Given the description of an element on the screen output the (x, y) to click on. 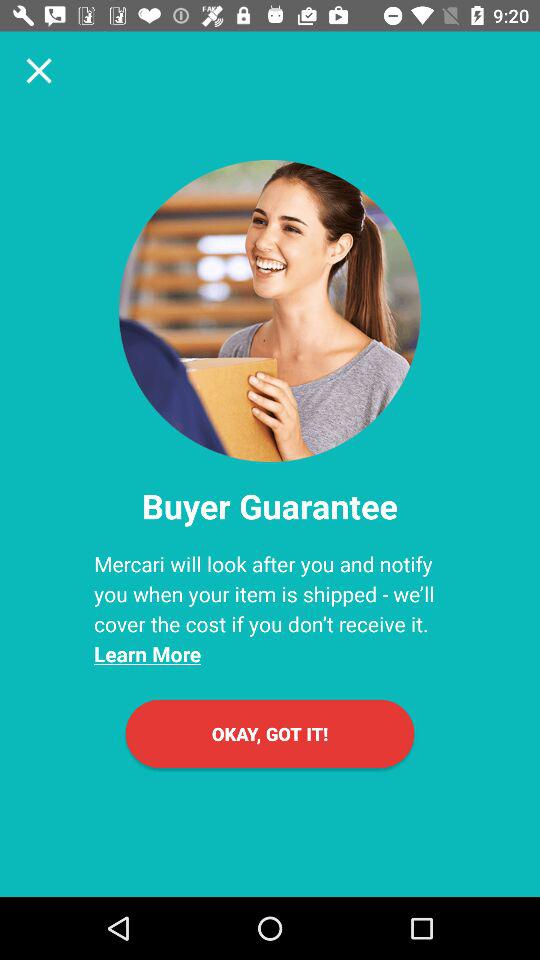
press the item below the mercari will look icon (269, 733)
